Given the description of an element on the screen output the (x, y) to click on. 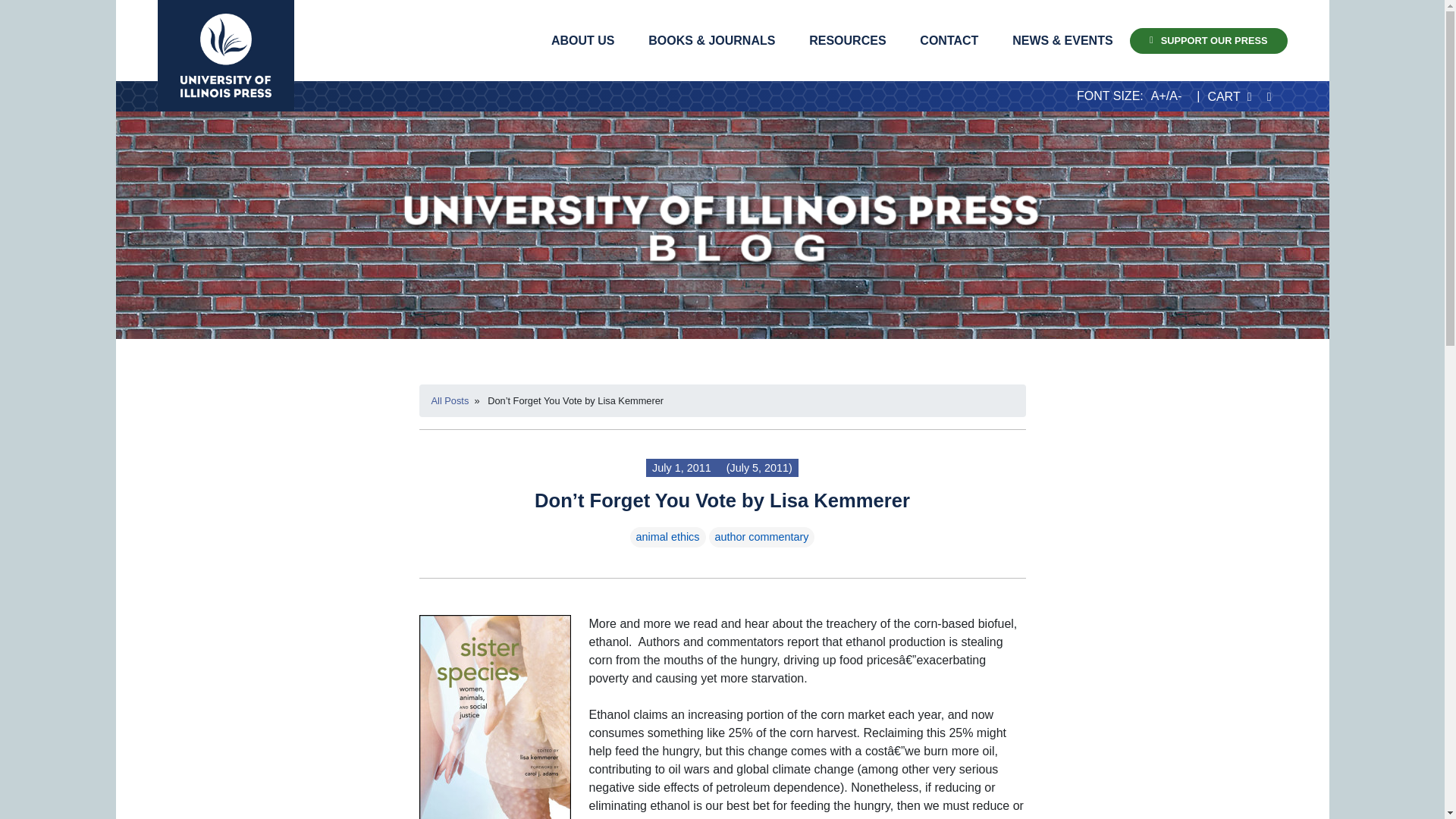
RESOURCES (847, 40)
ABOUT US (582, 40)
University Press (225, 55)
